Given the description of an element on the screen output the (x, y) to click on. 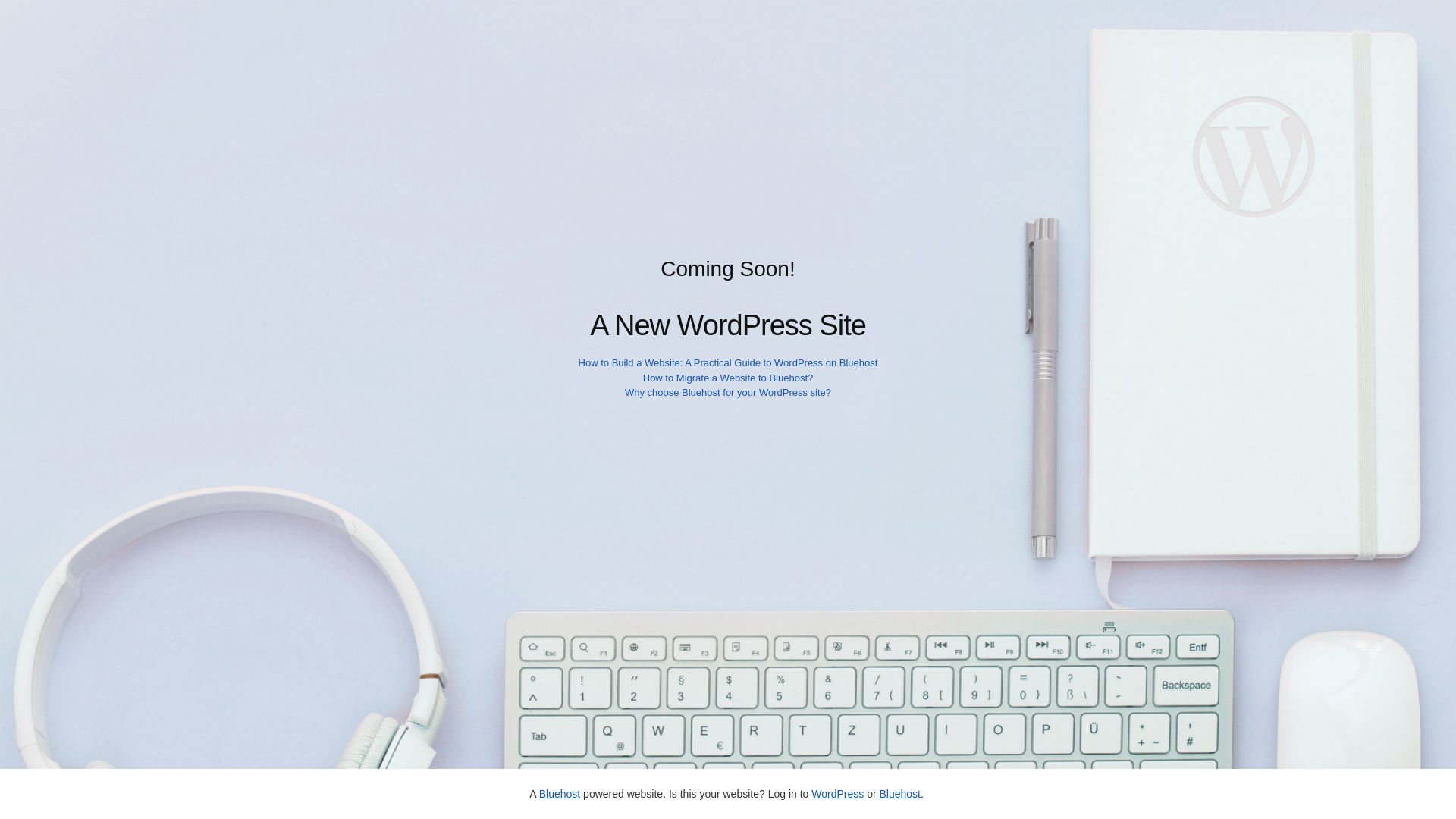
Why choose Bluehost for your WordPress site? (727, 392)
WordPress (836, 793)
How to Migrate a Website to Bluehost? (728, 378)
Bluehost (558, 793)
Bluehost (899, 793)
